Given the description of an element on the screen output the (x, y) to click on. 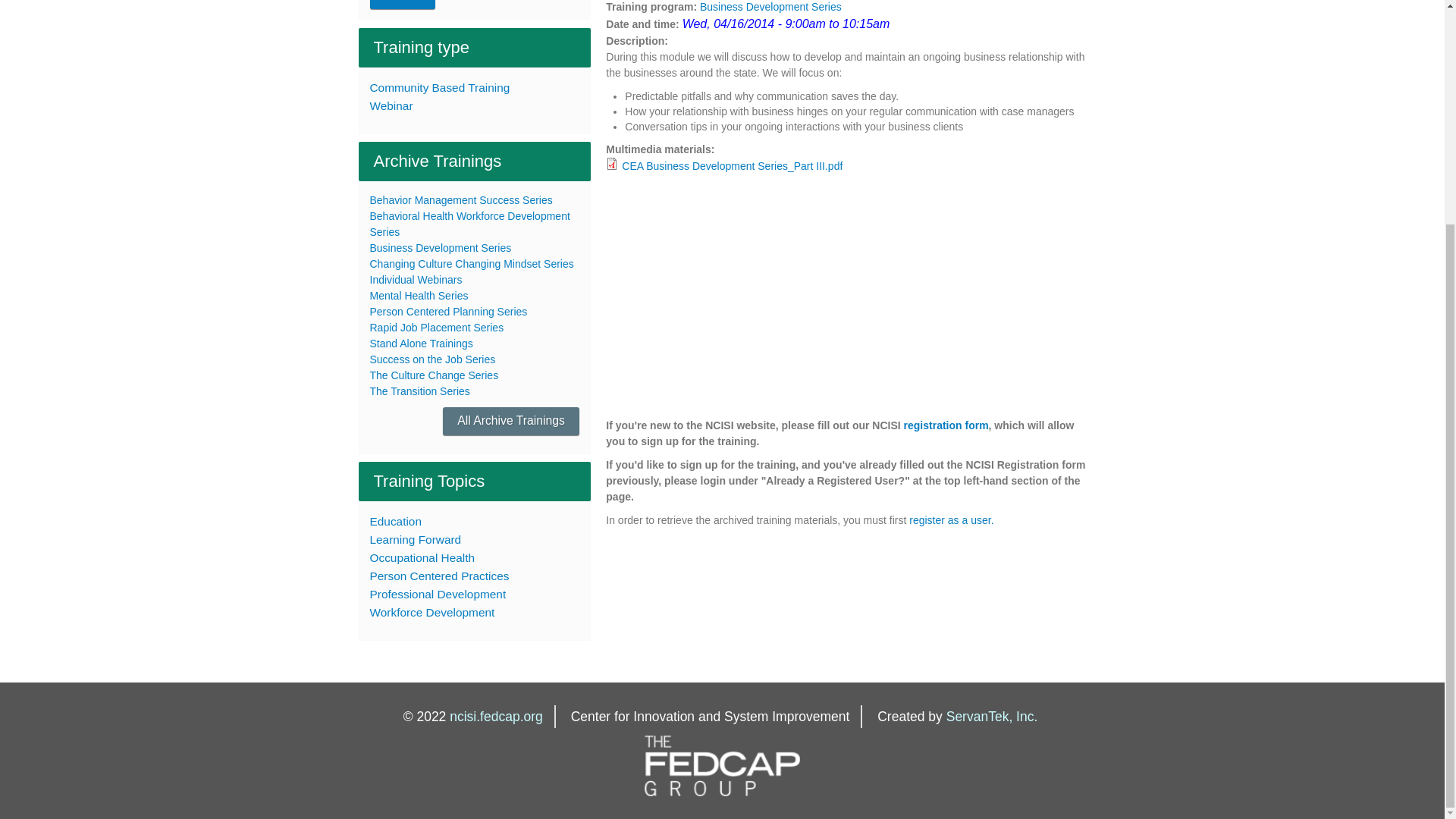
Changing Culture Changing Mindset Series (471, 263)
Webinar (474, 106)
Business Development Series (440, 247)
All Archive Trainings (510, 420)
The Culture Change Series (434, 375)
Behavior Management Success Series (461, 200)
Occupational Health (474, 557)
Person Centered Planning Series (448, 311)
Education (474, 521)
Behavioral Health Workforce Development Series (469, 223)
